Given the description of an element on the screen output the (x, y) to click on. 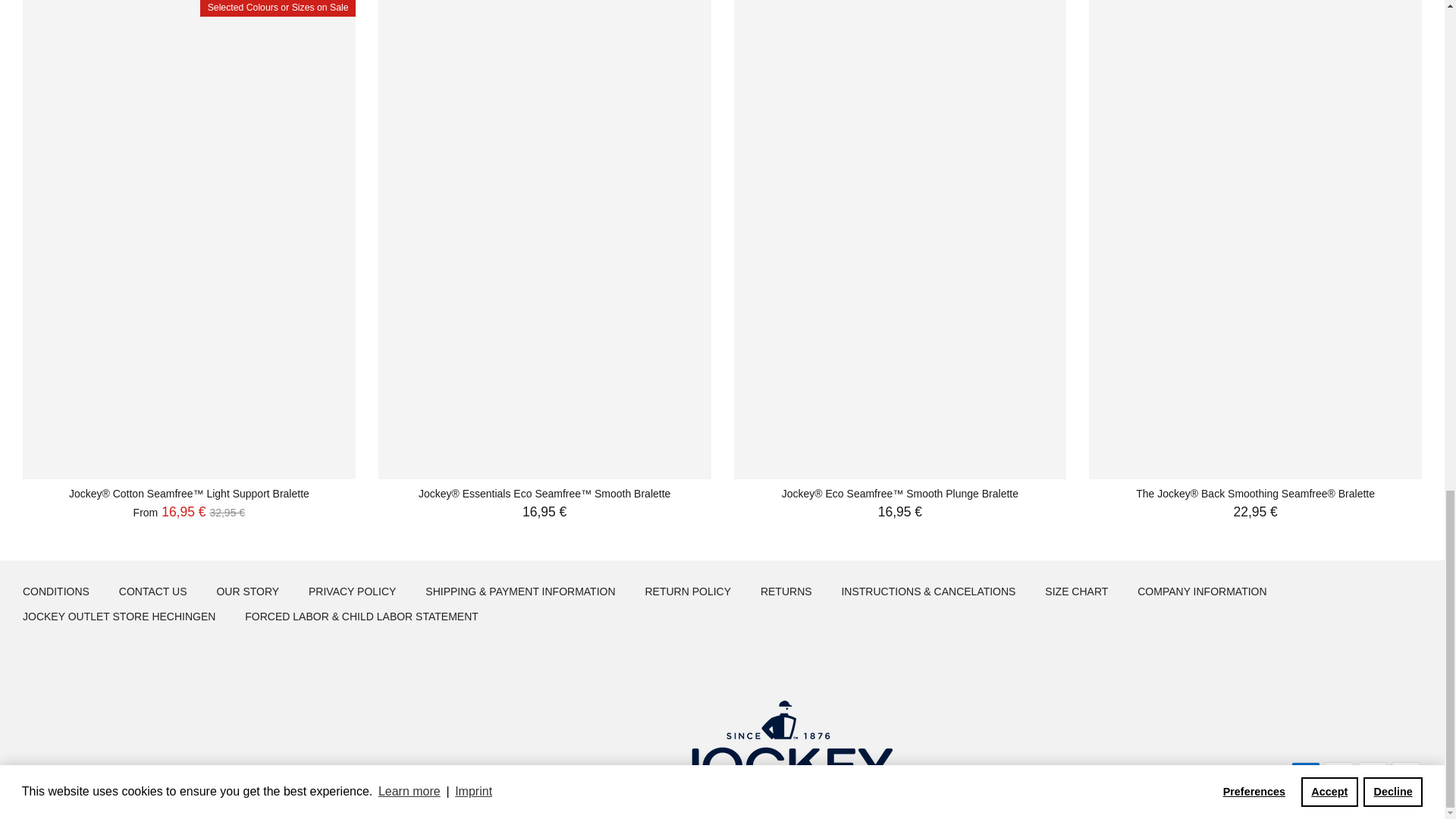
PayPal (1372, 771)
American Express (1305, 771)
Visa (1406, 771)
Mastercard (1339, 771)
